Given the description of an element on the screen output the (x, y) to click on. 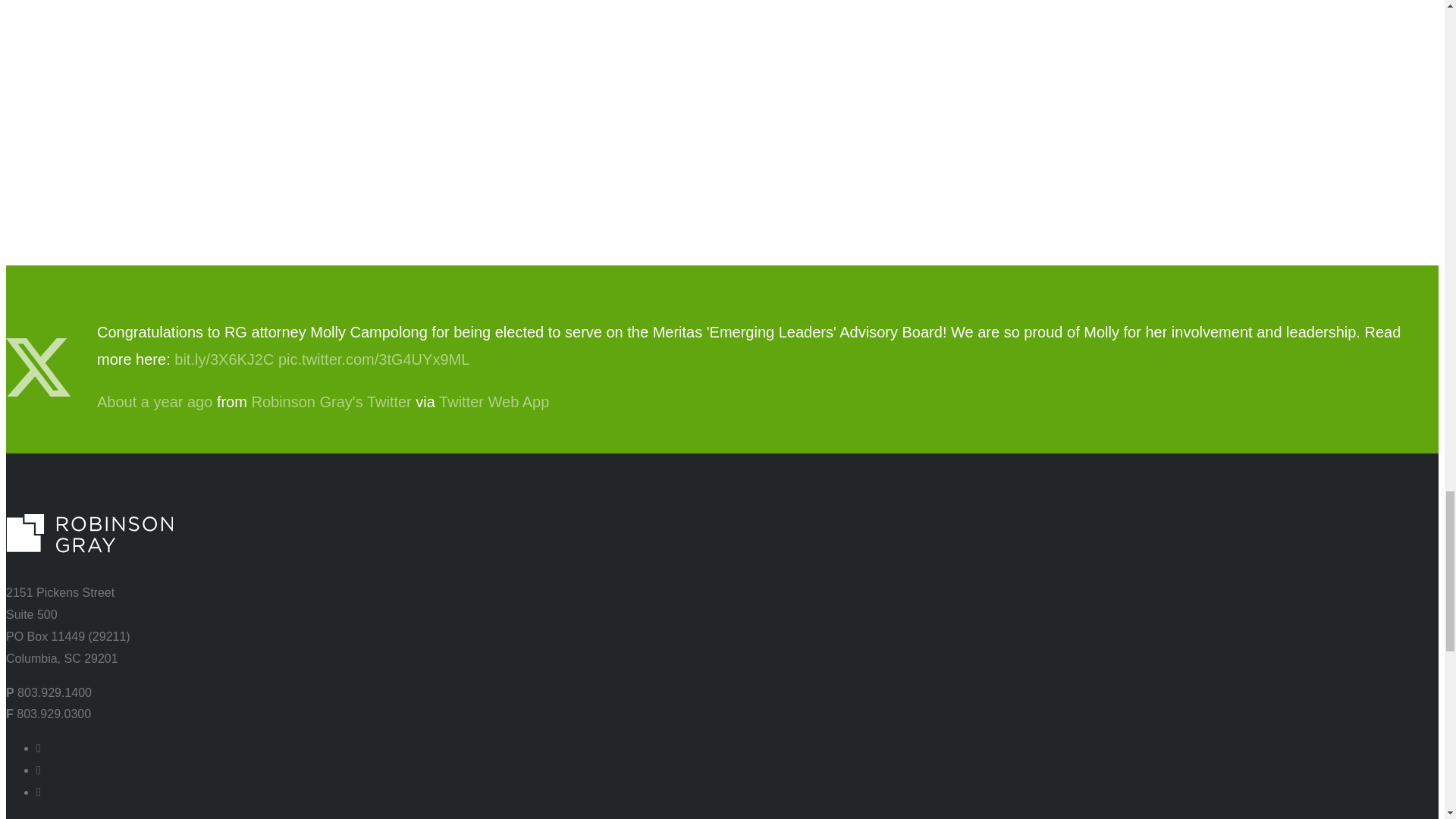
Twitter Web App (493, 401)
Robinson Gray's Twitter (330, 401)
About a year ago (154, 401)
Robinson Gray (330, 401)
